Given the description of an element on the screen output the (x, y) to click on. 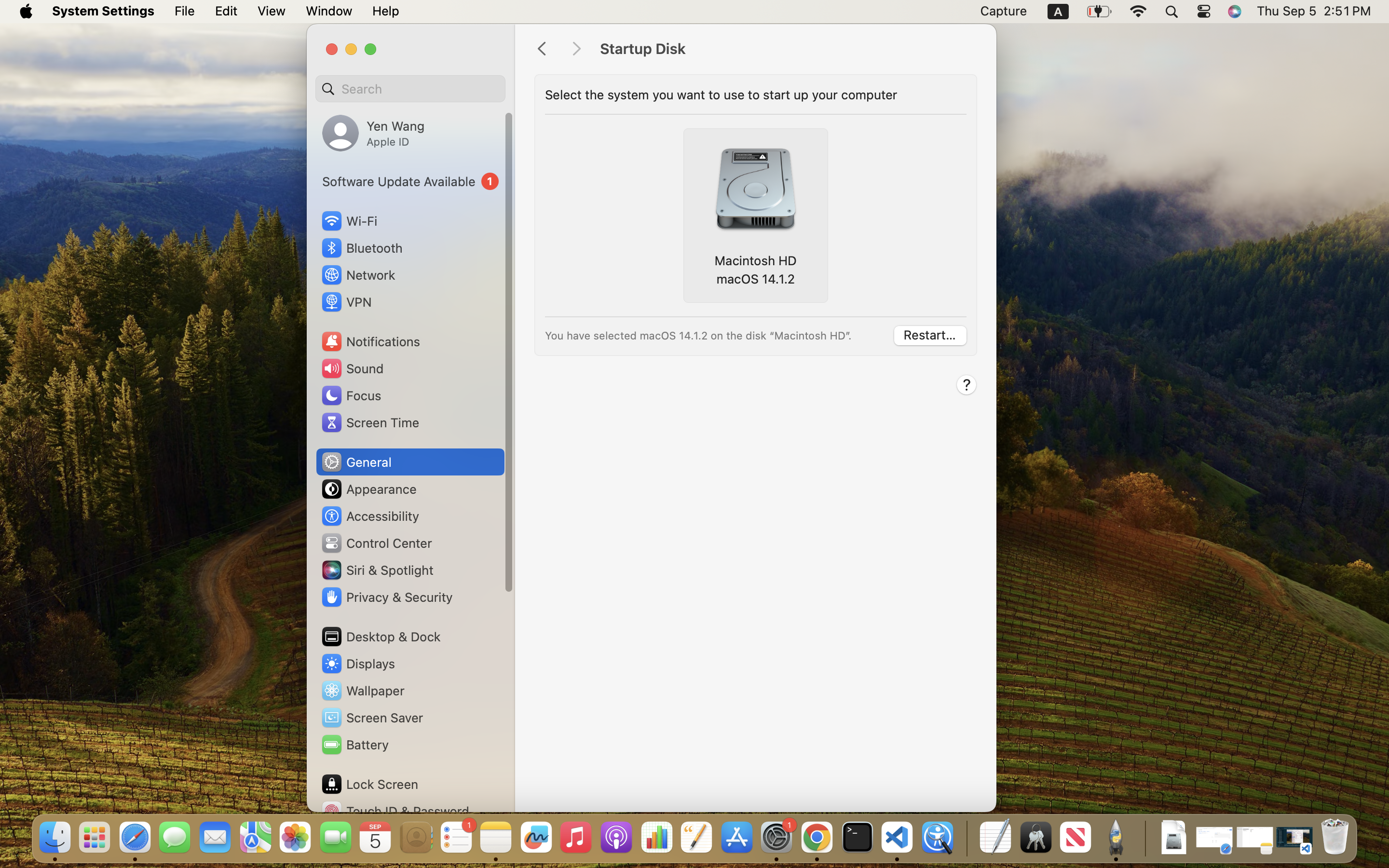
0.4285714328289032 Element type: AXDockItem (965, 837)
Battery Element type: AXStaticText (354, 744)
Yen Wang, Apple ID Element type: AXStaticText (373, 132)
Screen Saver Element type: AXStaticText (371, 717)
Desktop & Dock Element type: AXStaticText (380, 636)
